Given the description of an element on the screen output the (x, y) to click on. 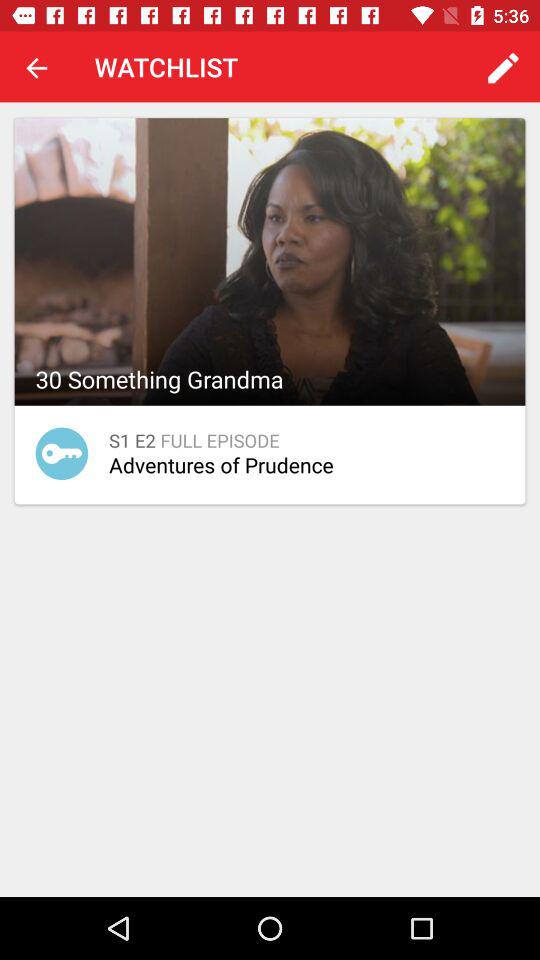
click the app to the right of the watchlist app (503, 67)
